Given the description of an element on the screen output the (x, y) to click on. 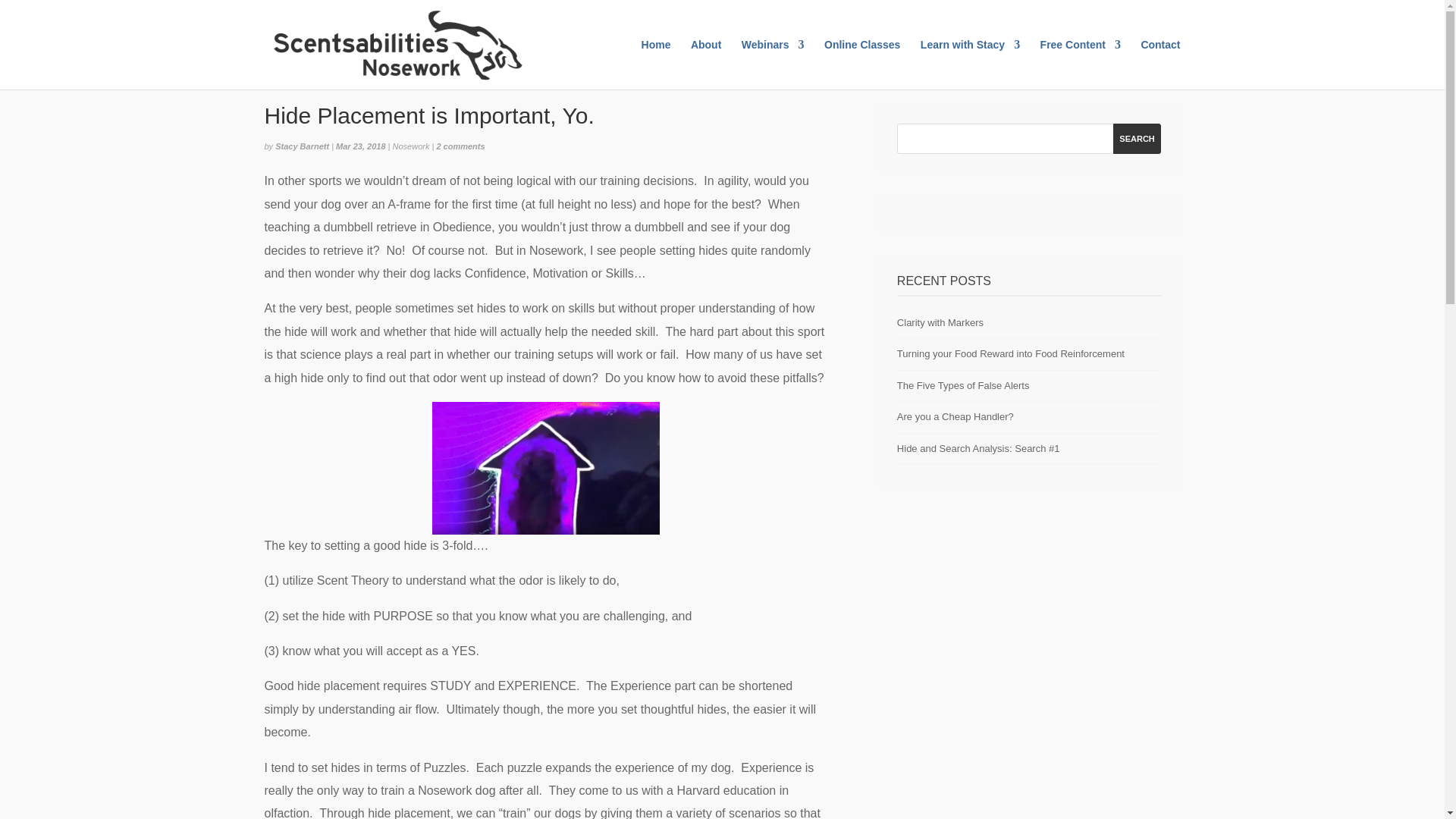
Online Classes (861, 64)
Are you a Cheap Handler? (954, 416)
Posts by Stacy Barnett (302, 145)
Search (1137, 138)
Stacy Barnett (302, 145)
Webinars (773, 64)
2 comments (459, 145)
Nosework (411, 145)
The Five Types of False Alerts (962, 385)
Clarity with Markers (940, 322)
Learn with Stacy (970, 64)
Search (1137, 138)
Turning your Food Reward into Food Reinforcement (1010, 353)
Free Content (1081, 64)
